Given the description of an element on the screen output the (x, y) to click on. 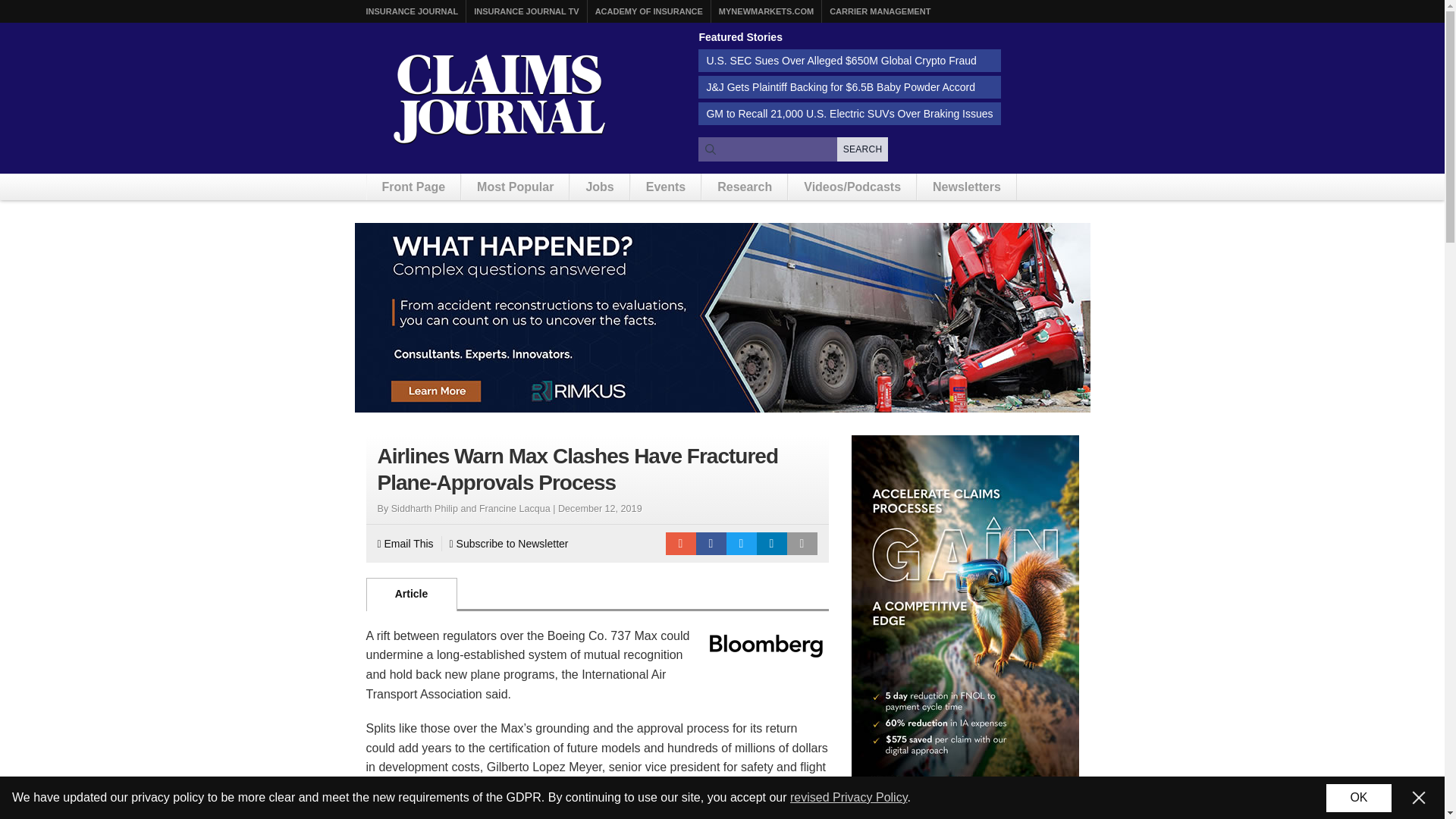
INSURANCE JOURNAL (411, 11)
ACADEMY OF INSURANCE (649, 11)
Print Article (801, 543)
Most Popular (515, 186)
Facebook (710, 543)
Front Page (413, 186)
MYNEWMARKETS.COM (766, 11)
Events (665, 186)
Newsletters (966, 186)
Search latest claims industry news, trends and reports (793, 149)
